Given the description of an element on the screen output the (x, y) to click on. 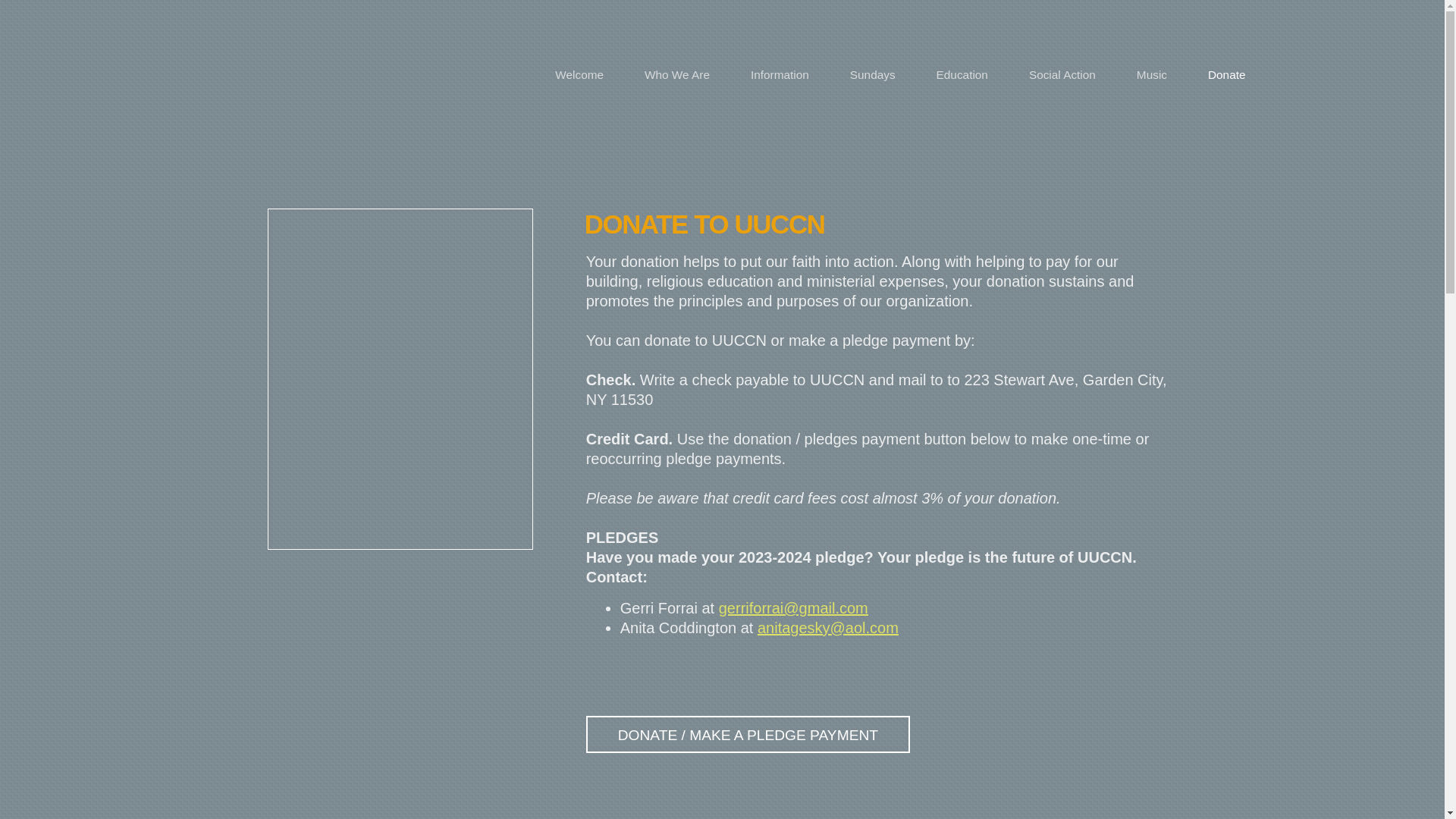
Welcome (579, 74)
Who We Are (677, 74)
Sundays (872, 74)
Music (1152, 74)
Education (962, 74)
Social Action (1062, 74)
Donate (1227, 74)
Information (779, 74)
